Given the description of an element on the screen output the (x, y) to click on. 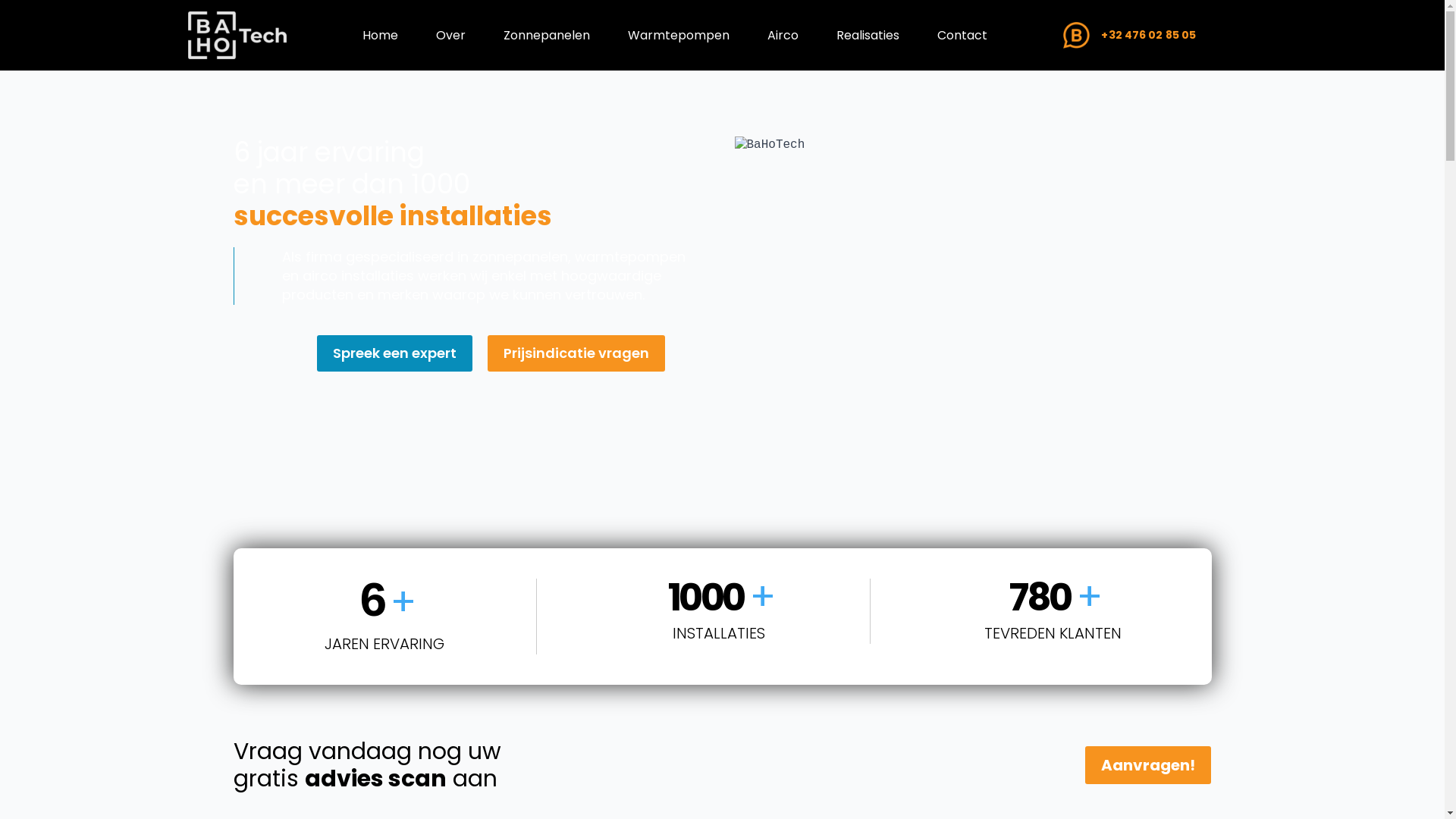
Zonnepanelen Element type: text (546, 34)
Prijsindicatie vragen Element type: text (575, 353)
Contact Element type: text (962, 34)
Realisaties Element type: text (867, 34)
Airco Element type: text (782, 34)
Spreek een expert Element type: text (394, 353)
BaHoTech Element type: hover (1076, 34)
Over Element type: text (450, 34)
Aanvragen! Element type: text (1148, 765)
BaHoTech Element type: hover (972, 304)
Warmtepompen Element type: text (678, 34)
Home Element type: text (380, 34)
BaHoTech Element type: hover (237, 35)
+32 476 02 85 05 Element type: text (1129, 34)
